Given the description of an element on the screen output the (x, y) to click on. 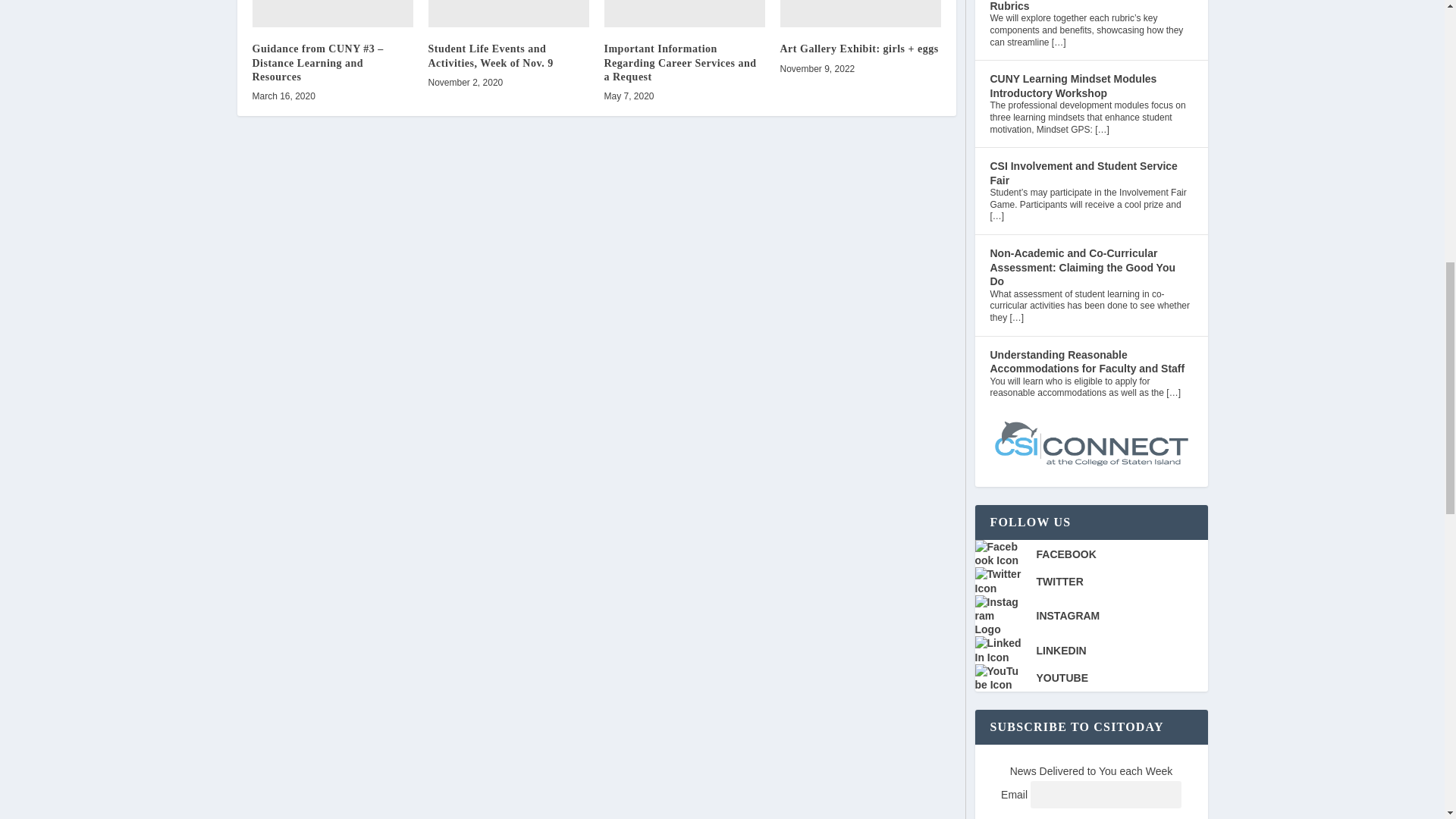
Student Life Events and Activities, Week of Nov. 9 (508, 13)
